Given the description of an element on the screen output the (x, y) to click on. 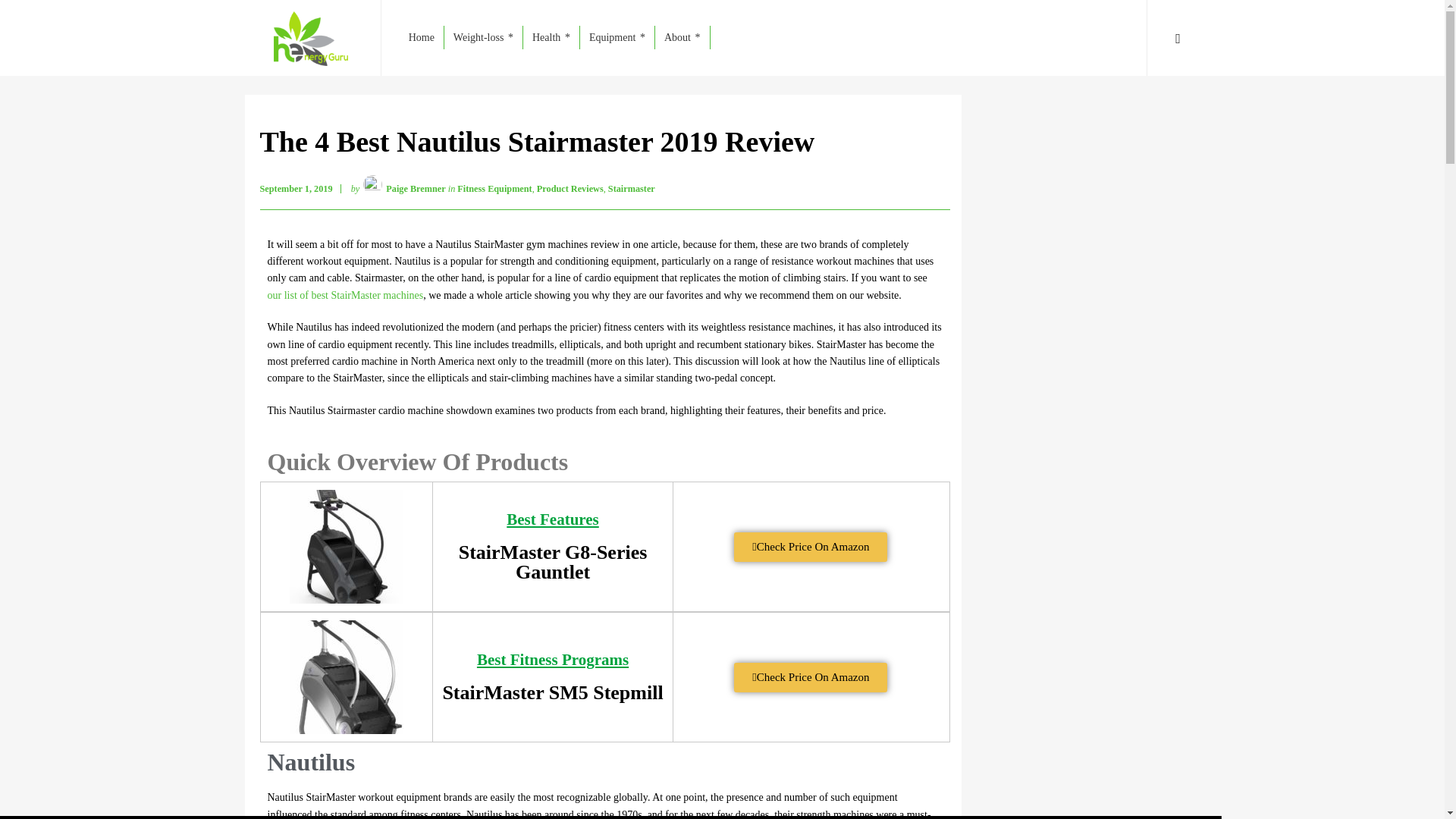
Posts by Paige Bremner (415, 188)
Equipment (617, 38)
Health Energy Guru (310, 38)
Weight-loss (483, 38)
